Given the description of an element on the screen output the (x, y) to click on. 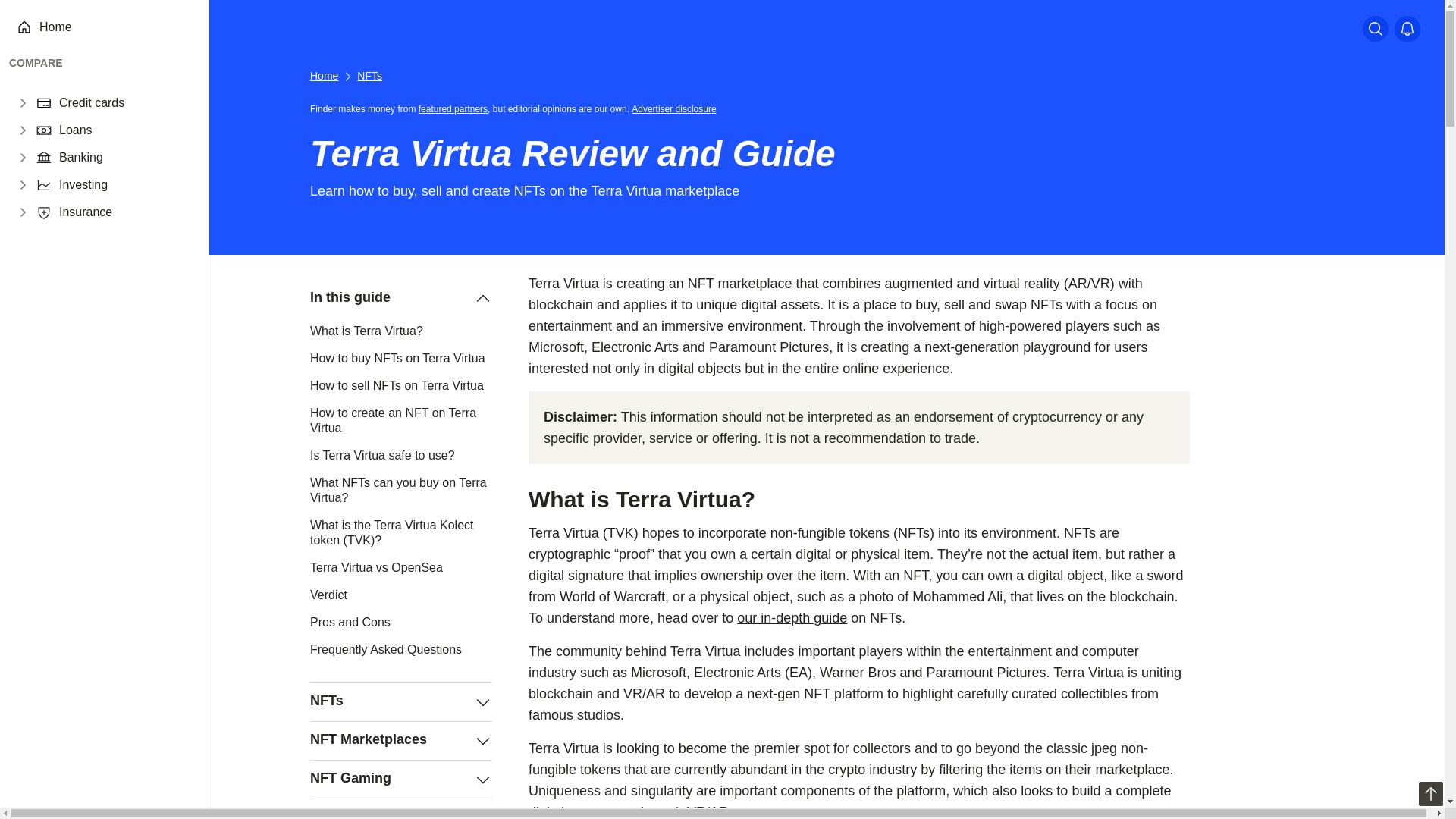
Back to Top (1430, 793)
Loans (76, 130)
Important information about this website (676, 108)
Banking (81, 157)
Home (55, 27)
Credit cards (91, 103)
